Given the description of an element on the screen output the (x, y) to click on. 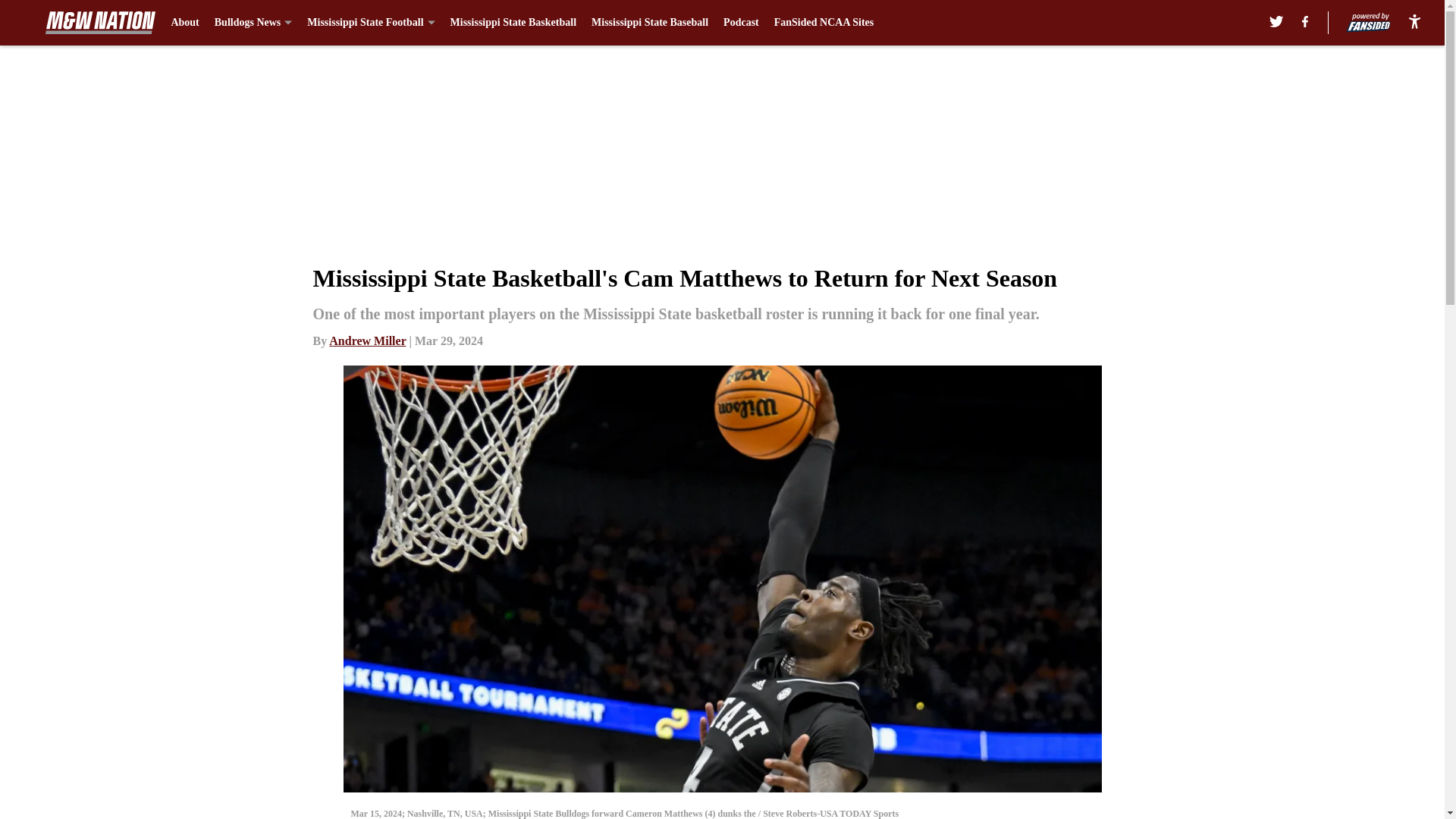
About (184, 22)
Podcast (740, 22)
FanSided NCAA Sites (823, 22)
Andrew Miller (367, 340)
Mississippi State Baseball (649, 22)
Mississippi State Basketball (512, 22)
